Given the description of an element on the screen output the (x, y) to click on. 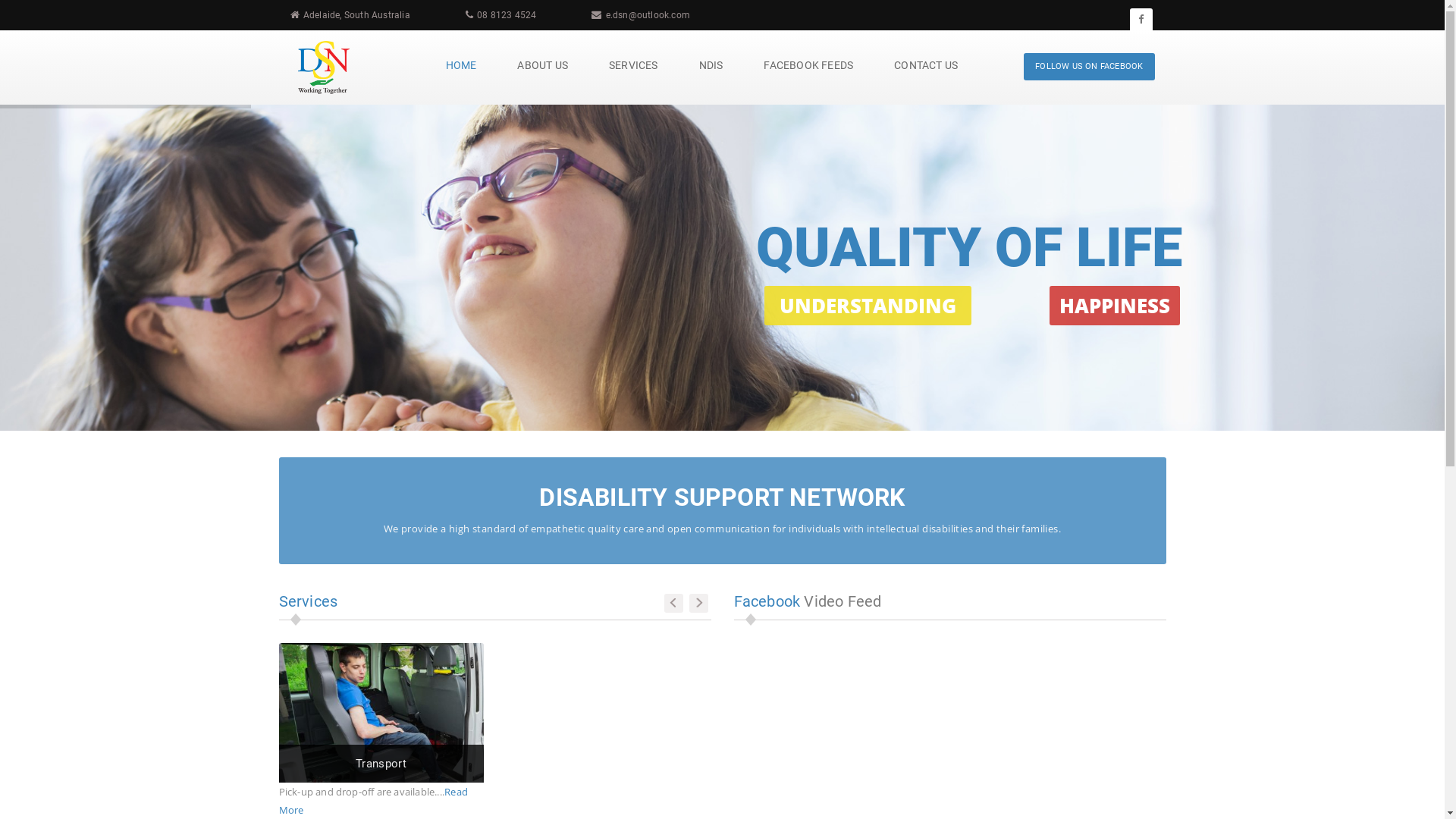
NDIS Element type: text (711, 65)
SERVICES Element type: text (633, 65)
ABOUT US Element type: text (542, 65)
e.dsn@outlook.com Element type: text (647, 14)
HOME Element type: text (461, 65)
Previous Element type: text (673, 602)
CONTACT US Element type: text (925, 65)
Next Element type: text (697, 602)
FACEBOOK FEEDS Element type: text (807, 65)
08 8123 4524 Element type: text (506, 14)
FOLLOW US ON FACEBOOK Element type: text (1088, 66)
Read More Element type: text (373, 800)
